Given the description of an element on the screen output the (x, y) to click on. 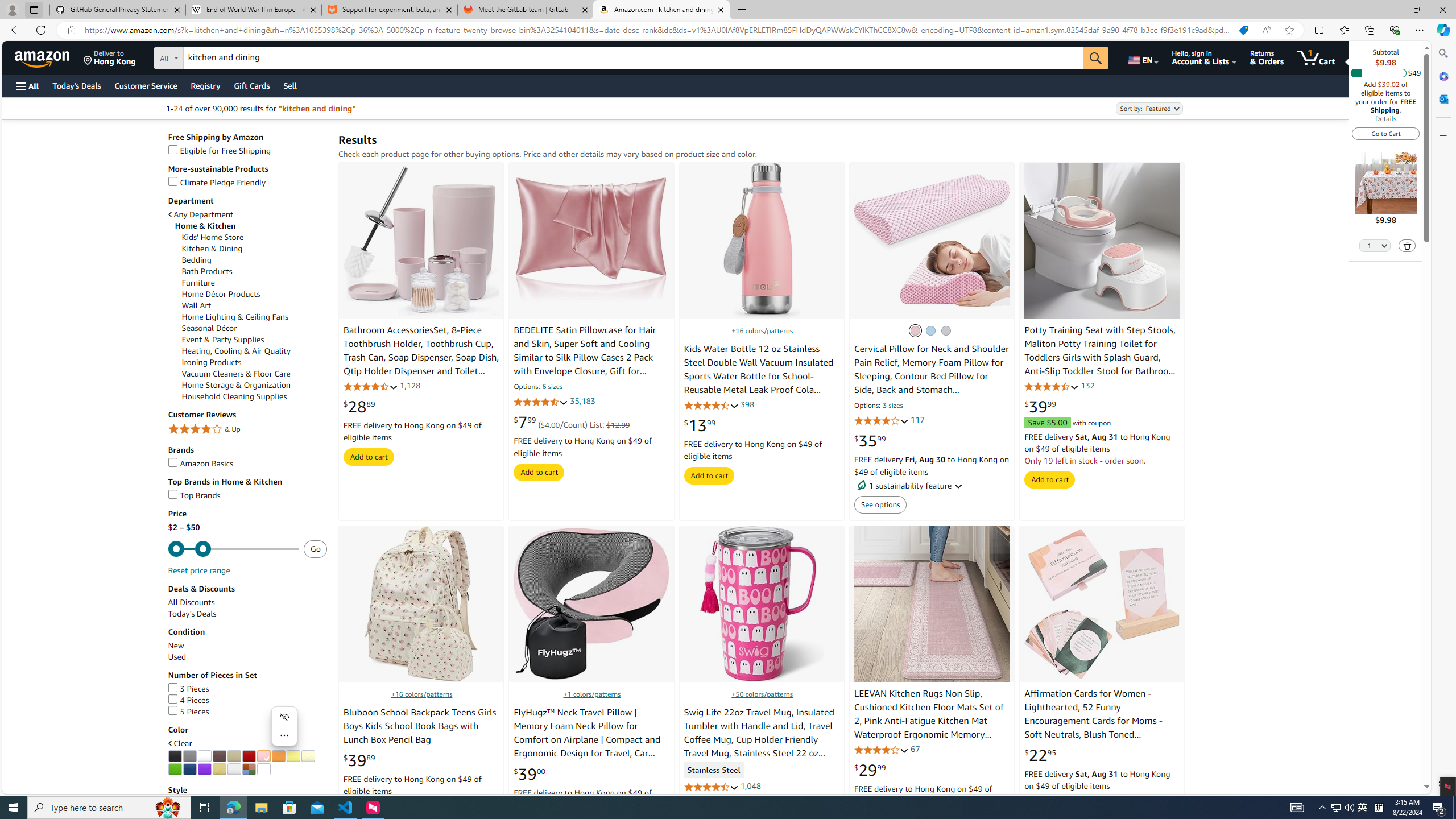
Mini menu on text selection (283, 732)
Used (247, 656)
4.5 out of 5 stars (541, 402)
35,183 (582, 401)
Event & Party Supplies (254, 339)
Eligible for Free Shipping (218, 150)
AutomationID: p_n_feature_twenty_browse-bin/3254099011 (189, 756)
4 Pieces (188, 699)
$29.99 (869, 770)
4.7 out of 5 stars (711, 786)
Top Brands (194, 495)
